Given the description of an element on the screen output the (x, y) to click on. 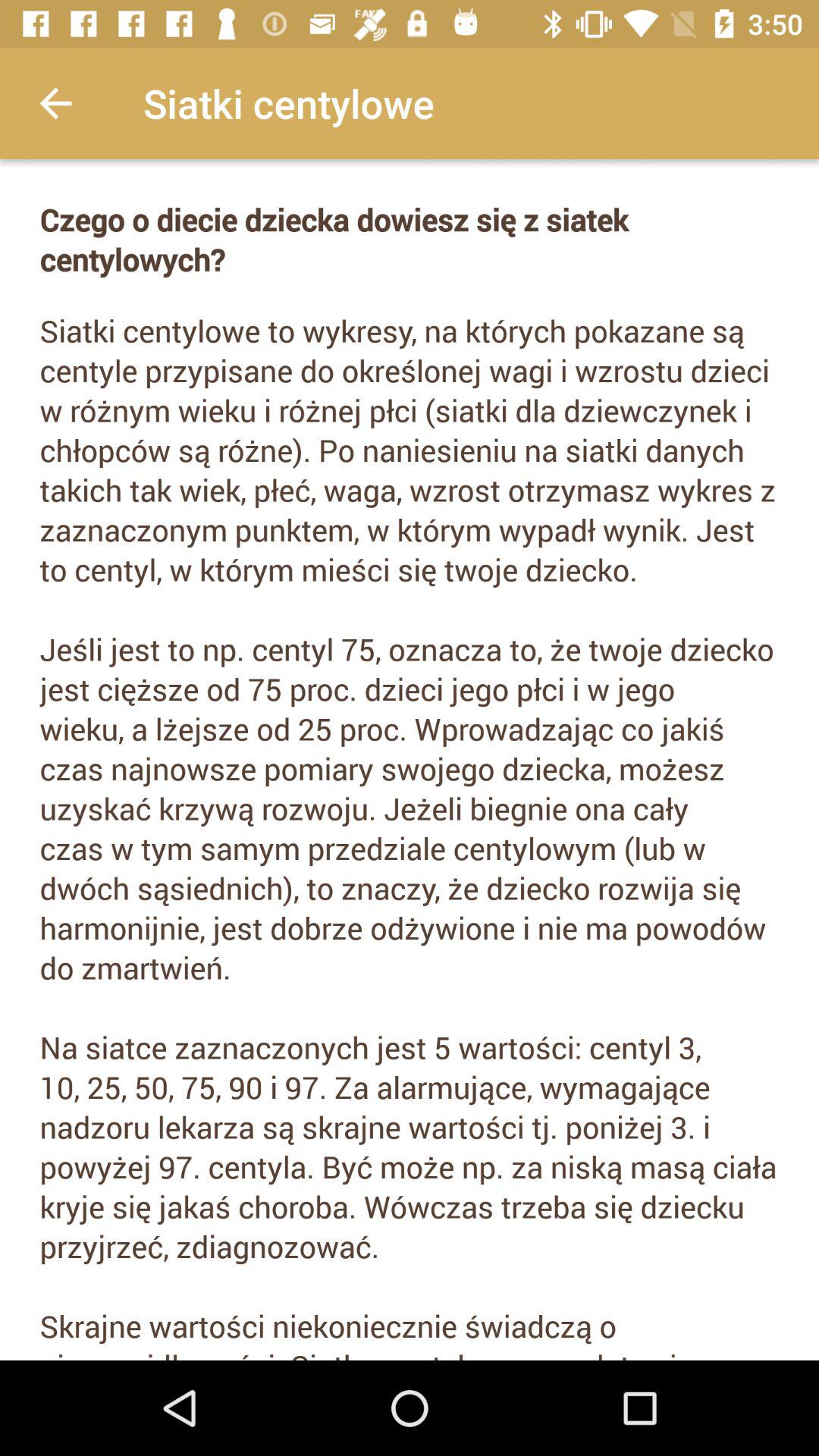
turn on icon above the siatki centylowe to icon (409, 239)
